Given the description of an element on the screen output the (x, y) to click on. 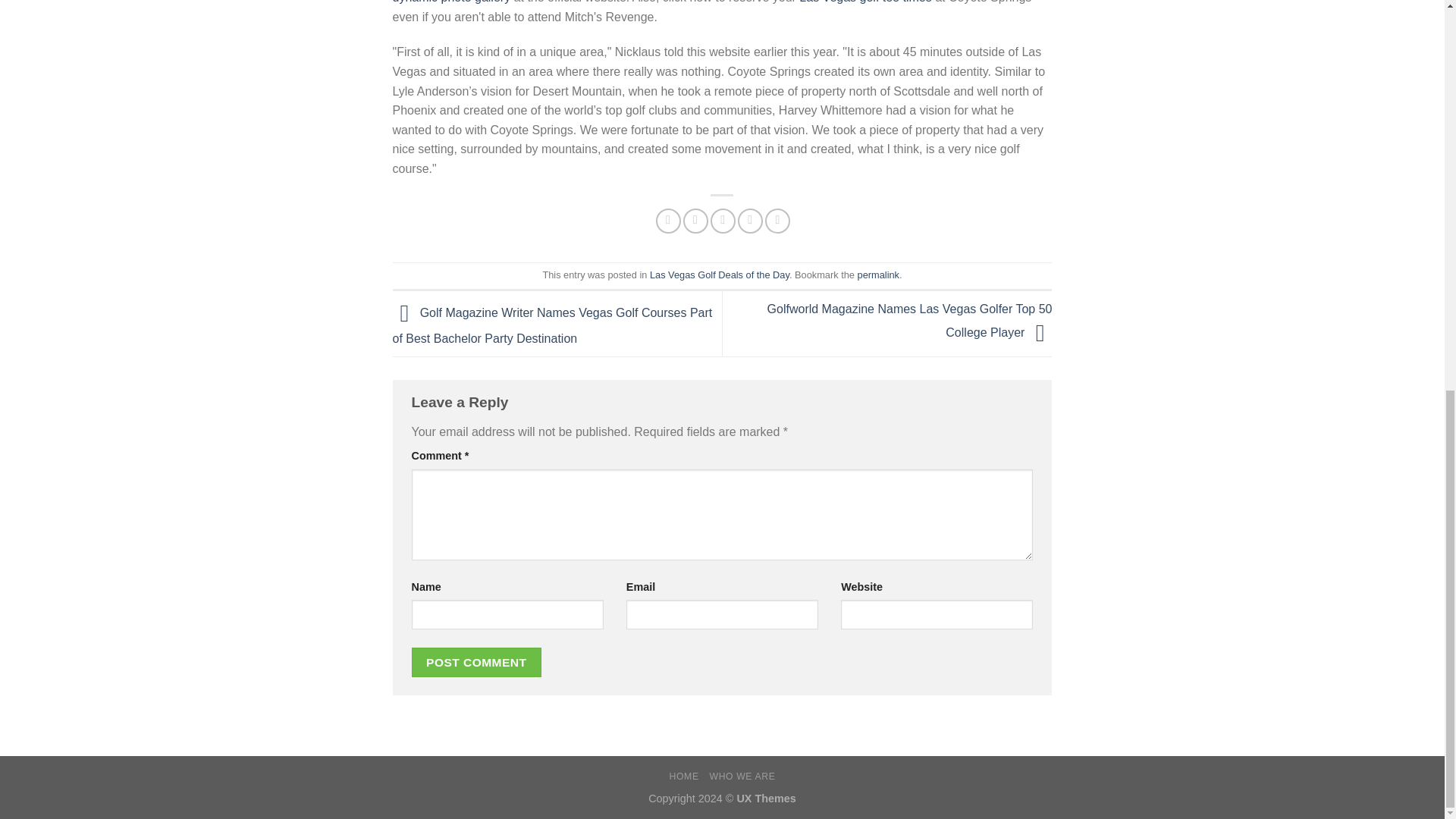
permalink (878, 274)
Las Vegas Golf Deals of the Day (719, 274)
Las Vegas golf tee times (865, 2)
WHO WE ARE (741, 776)
Post Comment (475, 662)
dynamic photo gallery (452, 2)
HOME (683, 776)
Post Comment (475, 662)
